Given the description of an element on the screen output the (x, y) to click on. 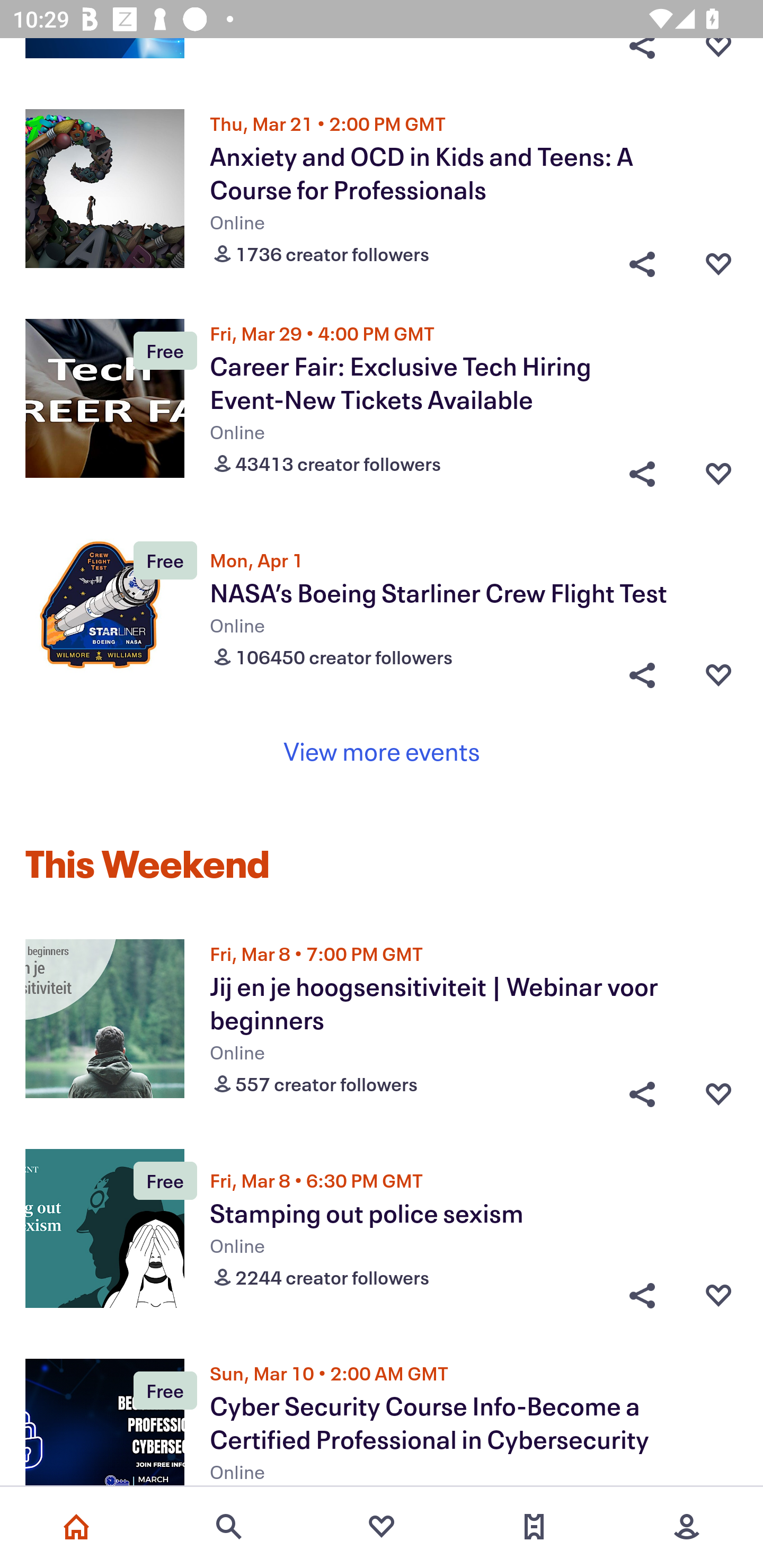
Share button (642, 60)
Favorite button (718, 60)
Share button (642, 259)
Favorite button (718, 259)
Share button (642, 469)
Favorite button (718, 469)
Share button (642, 674)
Favorite button (718, 674)
View more events (381, 750)
Share button (642, 1090)
Favorite button (718, 1090)
Share button (642, 1294)
Favorite button (718, 1294)
Home (76, 1526)
Search events (228, 1526)
Favorites (381, 1526)
Tickets (533, 1526)
More (686, 1526)
